Given the description of an element on the screen output the (x, y) to click on. 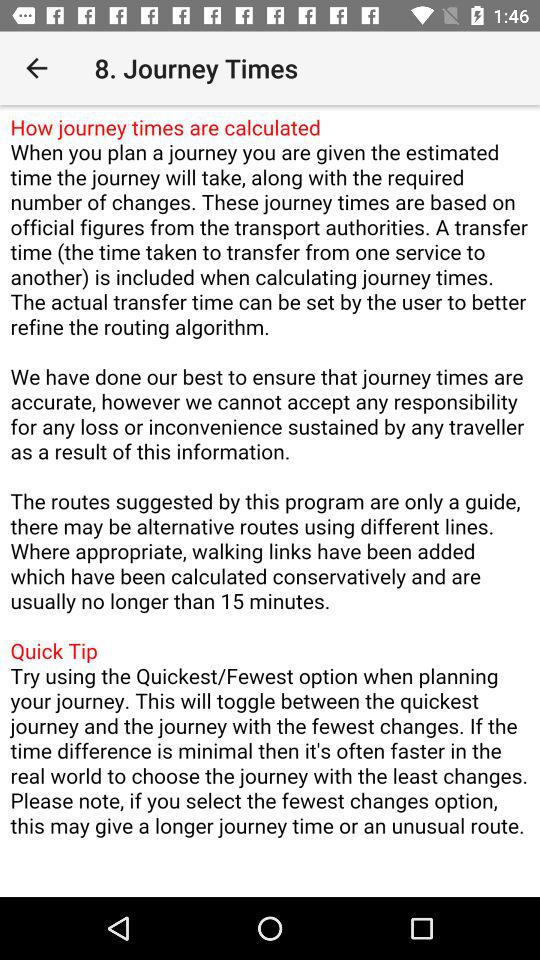
click the icon at the top left corner (36, 68)
